Given the description of an element on the screen output the (x, y) to click on. 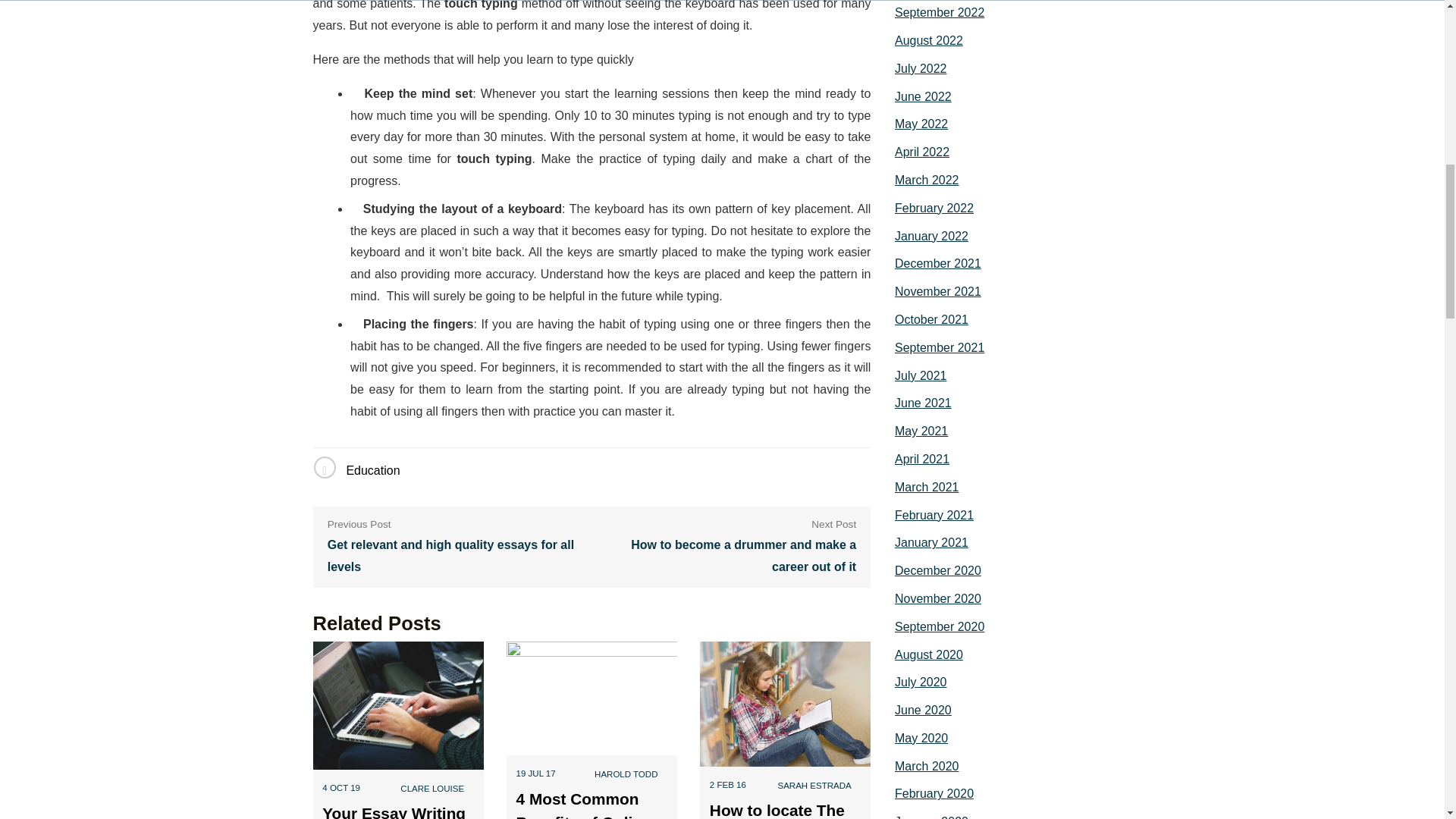
CLARE LOUISE (432, 788)
SARAH ESTRADA (813, 785)
4 Most Common Benefits of Online Education (583, 804)
How to locate The Best School for the Child (782, 810)
19 JUL 17 (536, 773)
Get relevant and high quality essays for all levels (459, 556)
HAROLD TODD (626, 773)
2 FEB 16 (727, 785)
Education (372, 470)
